Given the description of an element on the screen output the (x, y) to click on. 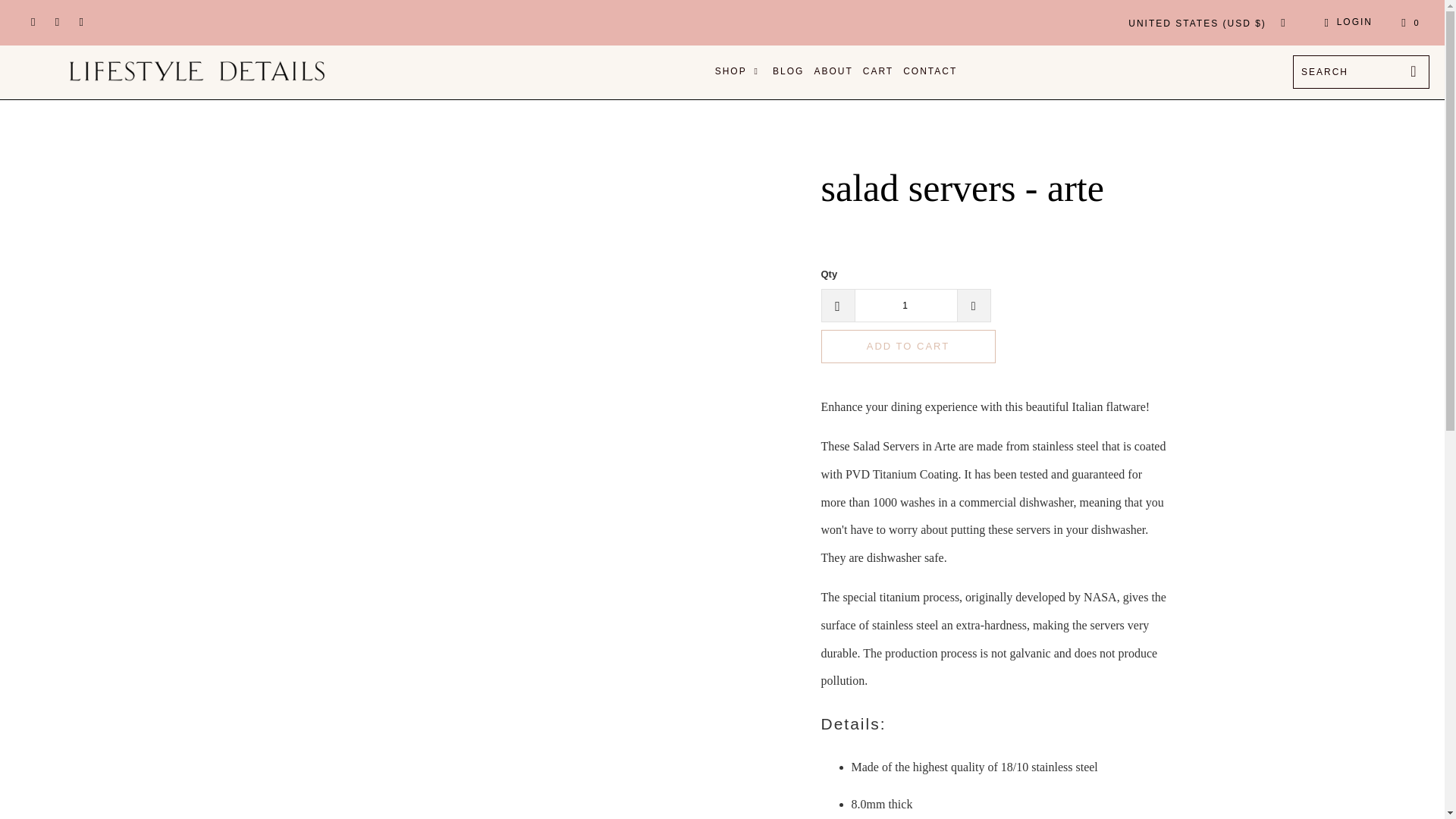
My Account  (1346, 22)
Lifestyle Details (197, 71)
Lifestyle Details on Facebook (32, 22)
Lifestyle Details on Pinterest (57, 22)
1 (904, 305)
Lifestyle Details on Instagram (80, 22)
